Given the description of an element on the screen output the (x, y) to click on. 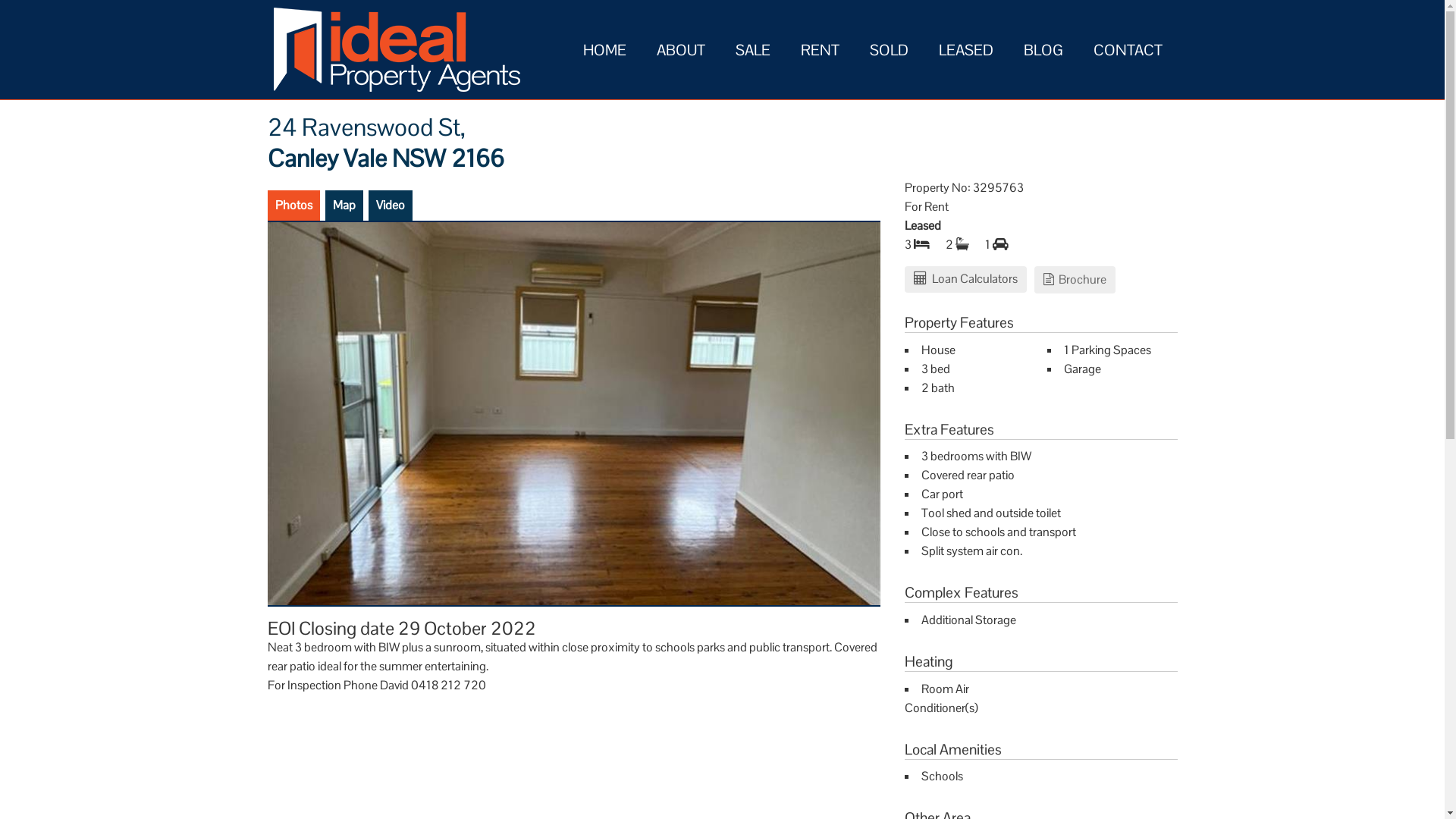
RENT Element type: text (819, 49)
 Brochure Element type: text (1074, 279)
SOLD Element type: text (887, 49)
Ideal Property Agents Element type: hover (392, 49)
BLOG Element type: text (1043, 49)
Loan Calculators Element type: text (964, 279)
ABOUT Element type: text (680, 49)
LEASED Element type: text (965, 49)
SALE Element type: text (752, 49)
CONTACT Element type: text (1127, 49)
HOME Element type: text (603, 49)
